Given the description of an element on the screen output the (x, y) to click on. 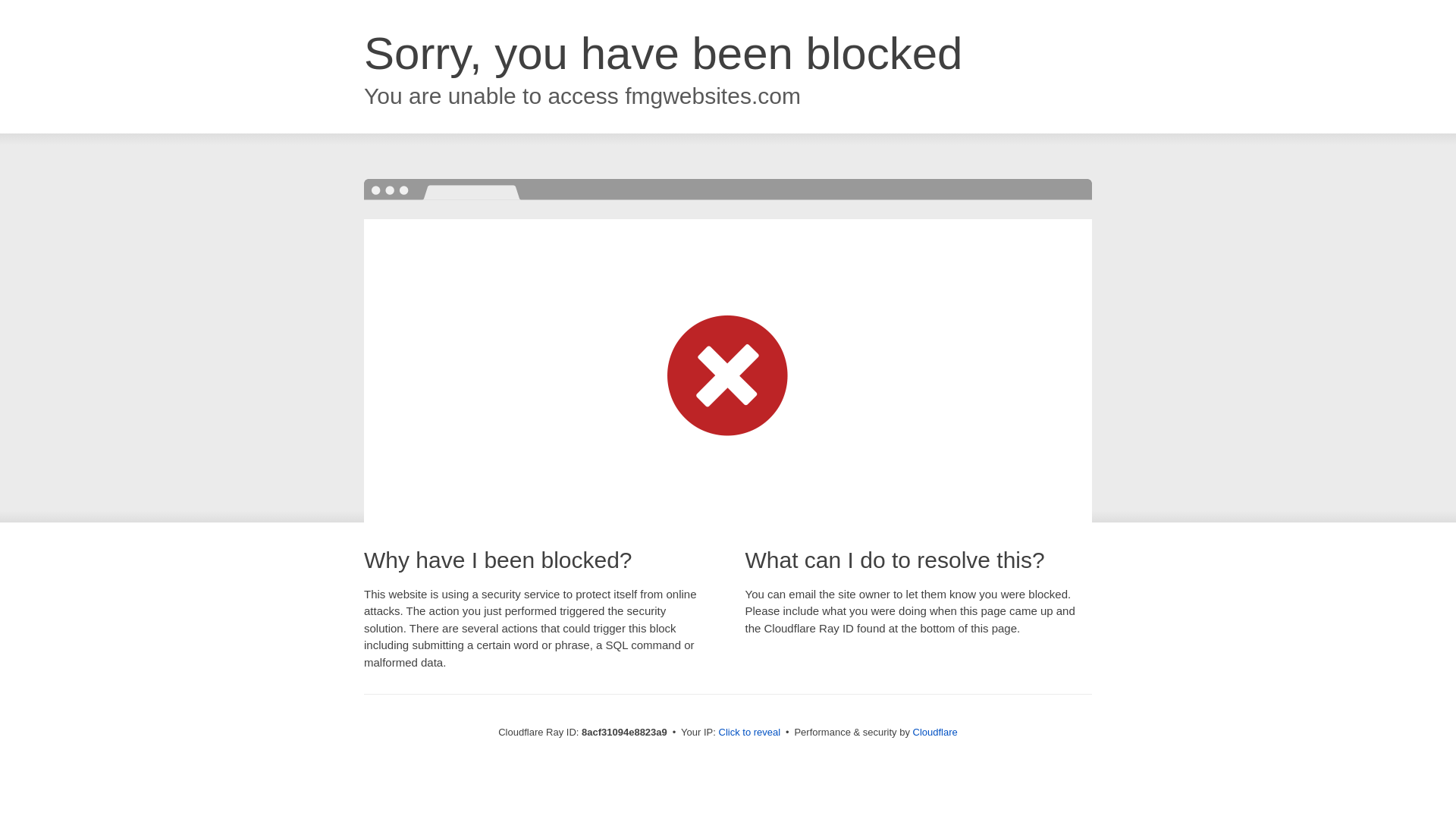
Click to reveal (749, 732)
Cloudflare (935, 731)
